Given the description of an element on the screen output the (x, y) to click on. 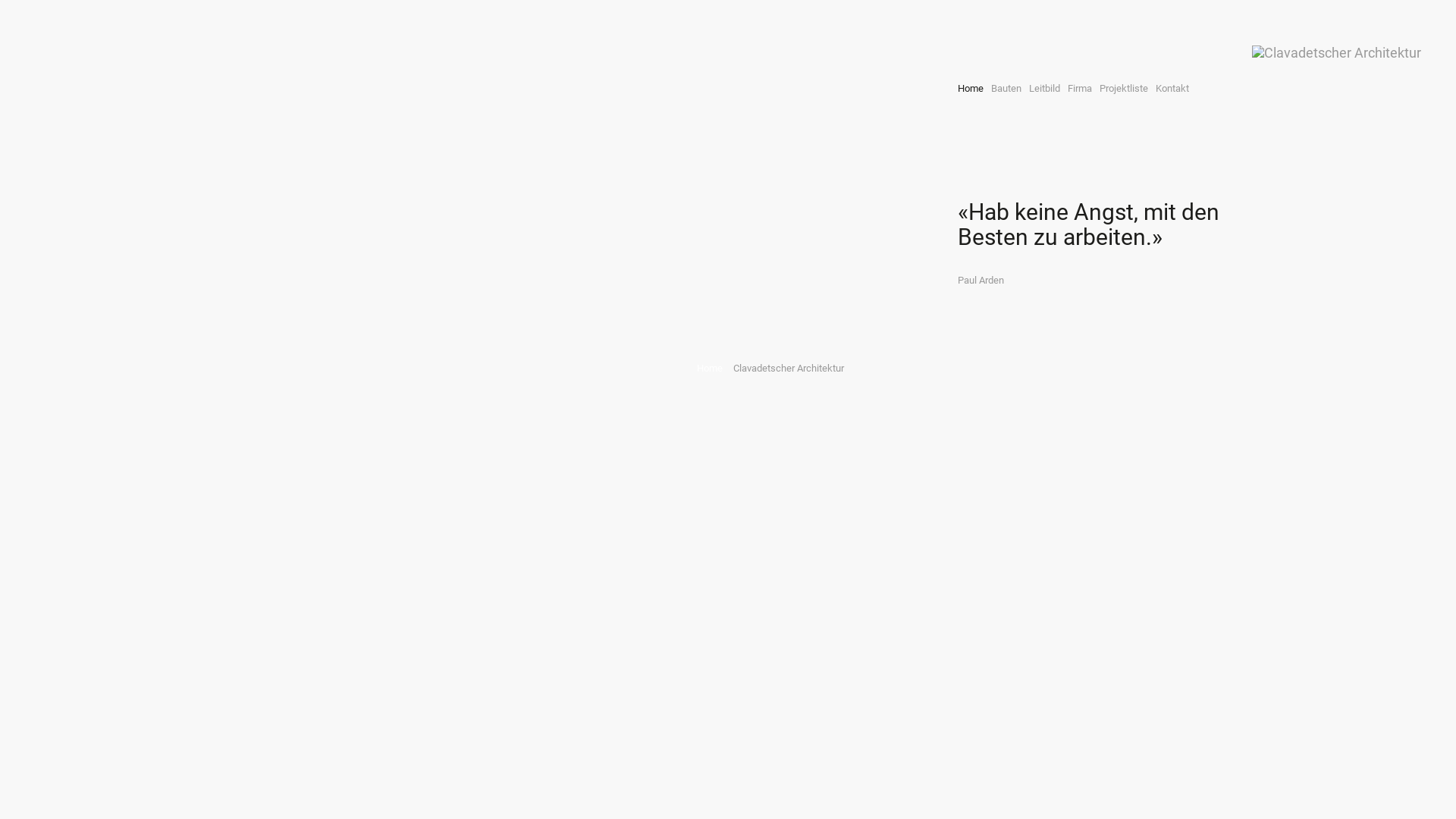
Clavadetscher Architektur Element type: hover (1336, 52)
Bauten Element type: text (1006, 88)
Projektliste Element type: text (1123, 88)
Leitbild Element type: text (1044, 88)
Kontakt Element type: text (1171, 88)
Firma Element type: text (1079, 88)
Home Element type: text (970, 88)
